Given the description of an element on the screen output the (x, y) to click on. 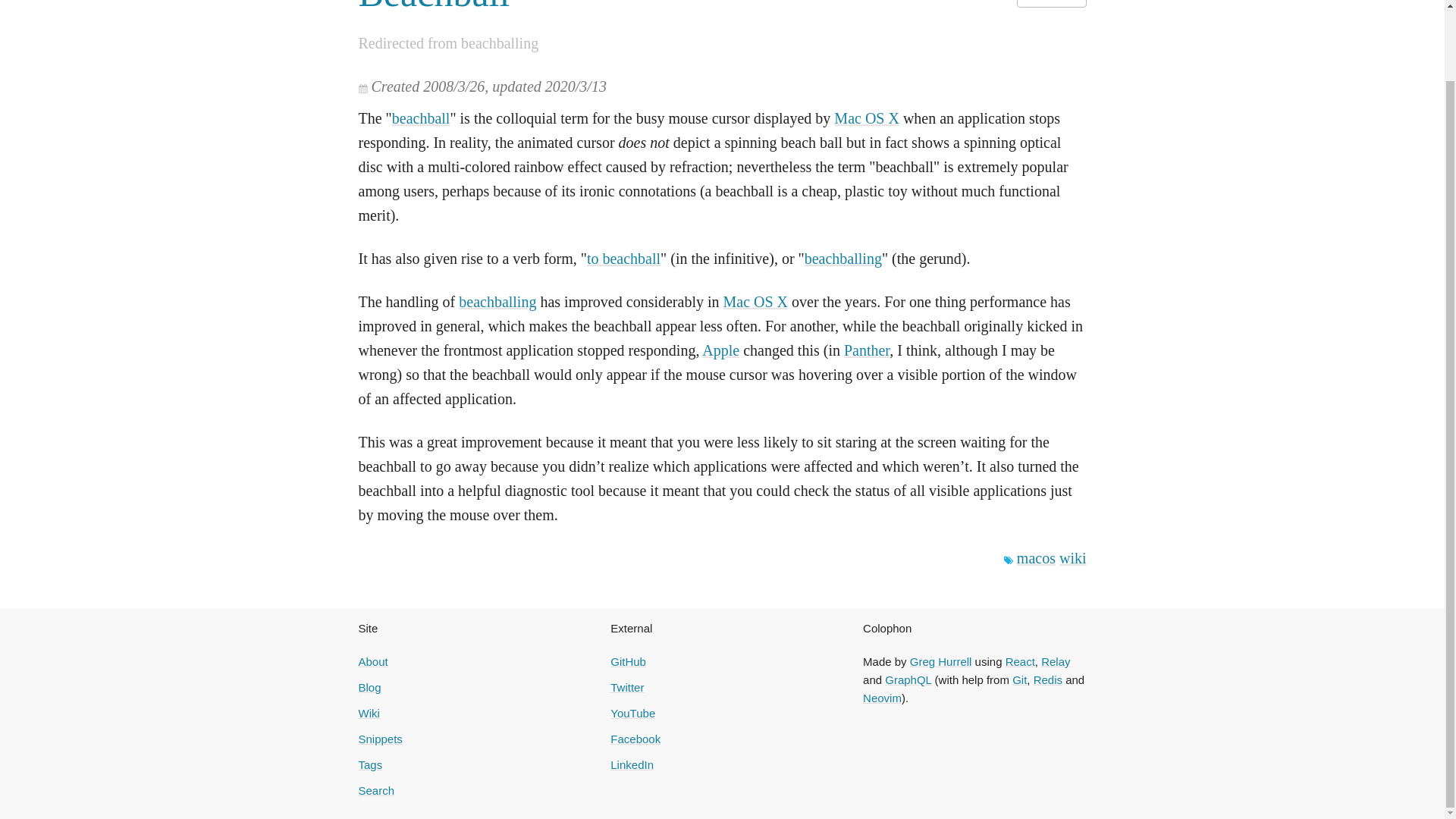
macos (1035, 557)
Mac OS X (756, 301)
Redis (1047, 679)
Apple (720, 350)
beachball (420, 117)
GraphQL (908, 679)
Relay (1055, 661)
Mac OS X (866, 117)
Neovim (882, 697)
wiki (1072, 557)
